Given the description of an element on the screen output the (x, y) to click on. 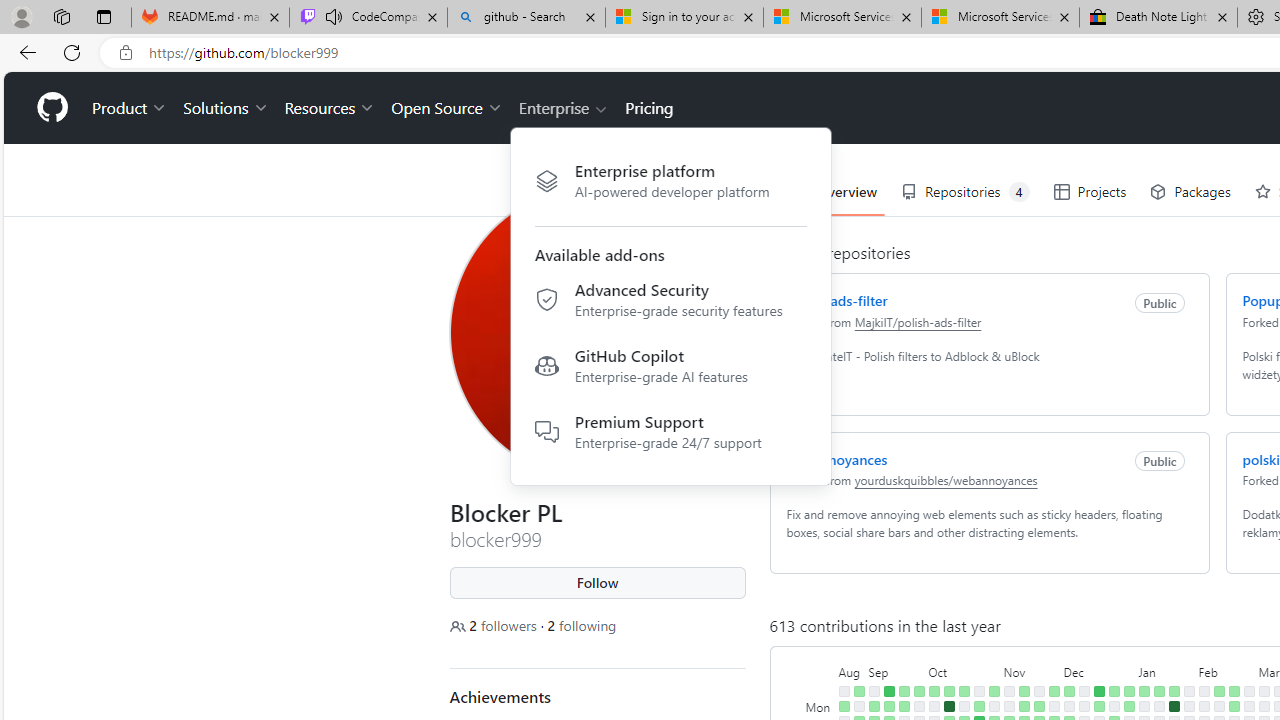
github - Search (526, 17)
No contributions on August 28th. (858, 706)
1 contribution on October 29th. (993, 691)
Pricing (649, 107)
No contributions on October 30th. (993, 706)
View blocker999's full-sized avatar (597, 332)
Open Source (446, 107)
Pricing (649, 107)
1 contribution on February 11th. (1218, 691)
No contributions on November 27th. (1053, 706)
No contributions on February 12th. (1218, 706)
No contributions on September 3rd. (873, 691)
No contributions on March 3rd. (1263, 691)
4 contributions on December 3rd. (1068, 691)
